Given the description of an element on the screen output the (x, y) to click on. 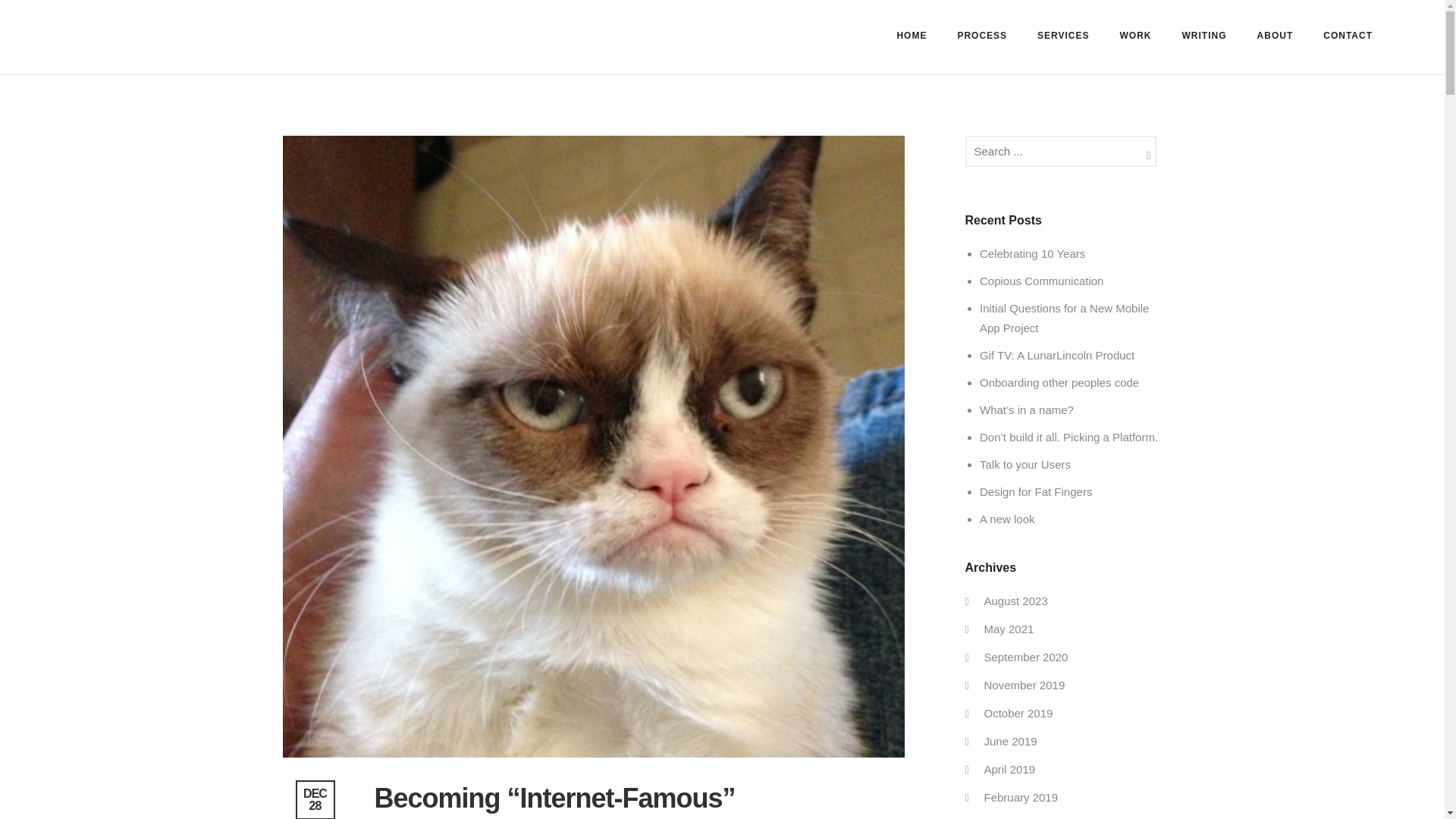
WORK (1136, 35)
HOME (911, 35)
SERVICES (1062, 35)
Home (911, 35)
WRITING (1204, 35)
PROCESS (982, 35)
ABOUT (1274, 35)
Contact (1347, 35)
Writing (1204, 35)
Services (1062, 35)
Process (982, 35)
CONTACT (1347, 35)
About (1274, 35)
Work (1136, 35)
